Given the description of an element on the screen output the (x, y) to click on. 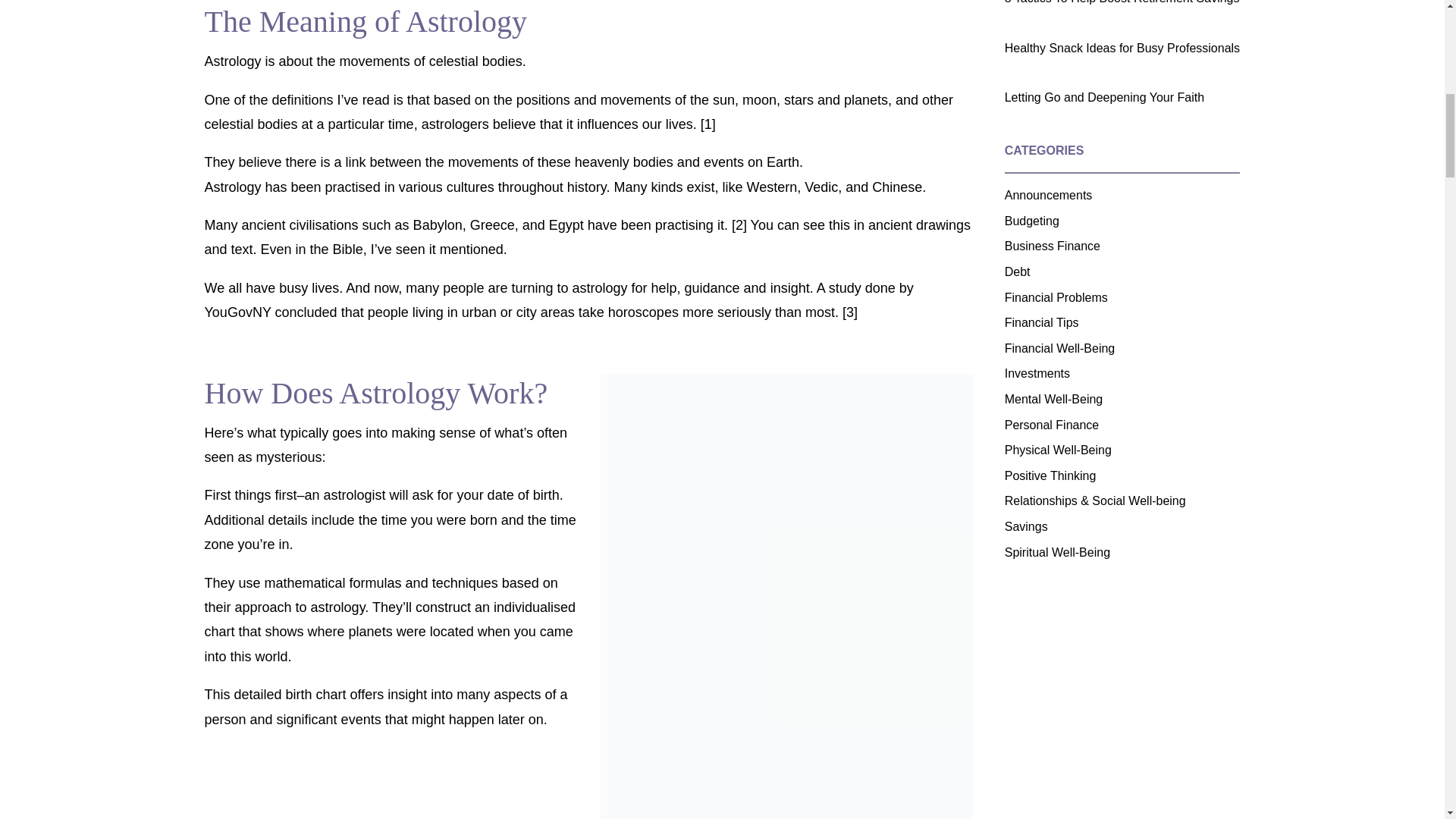
Budgeting (1031, 220)
Letting Go and Deepening Your Faith (1104, 97)
Business Finance (1052, 245)
Debt (1017, 271)
Financial Problems (1056, 297)
Announcements (1048, 195)
Healthy Snack Ideas for Busy Professionals (1122, 47)
Financial Tips (1041, 322)
8 Tactics To Help Boost Retirement Savings (1122, 2)
